Given the description of an element on the screen output the (x, y) to click on. 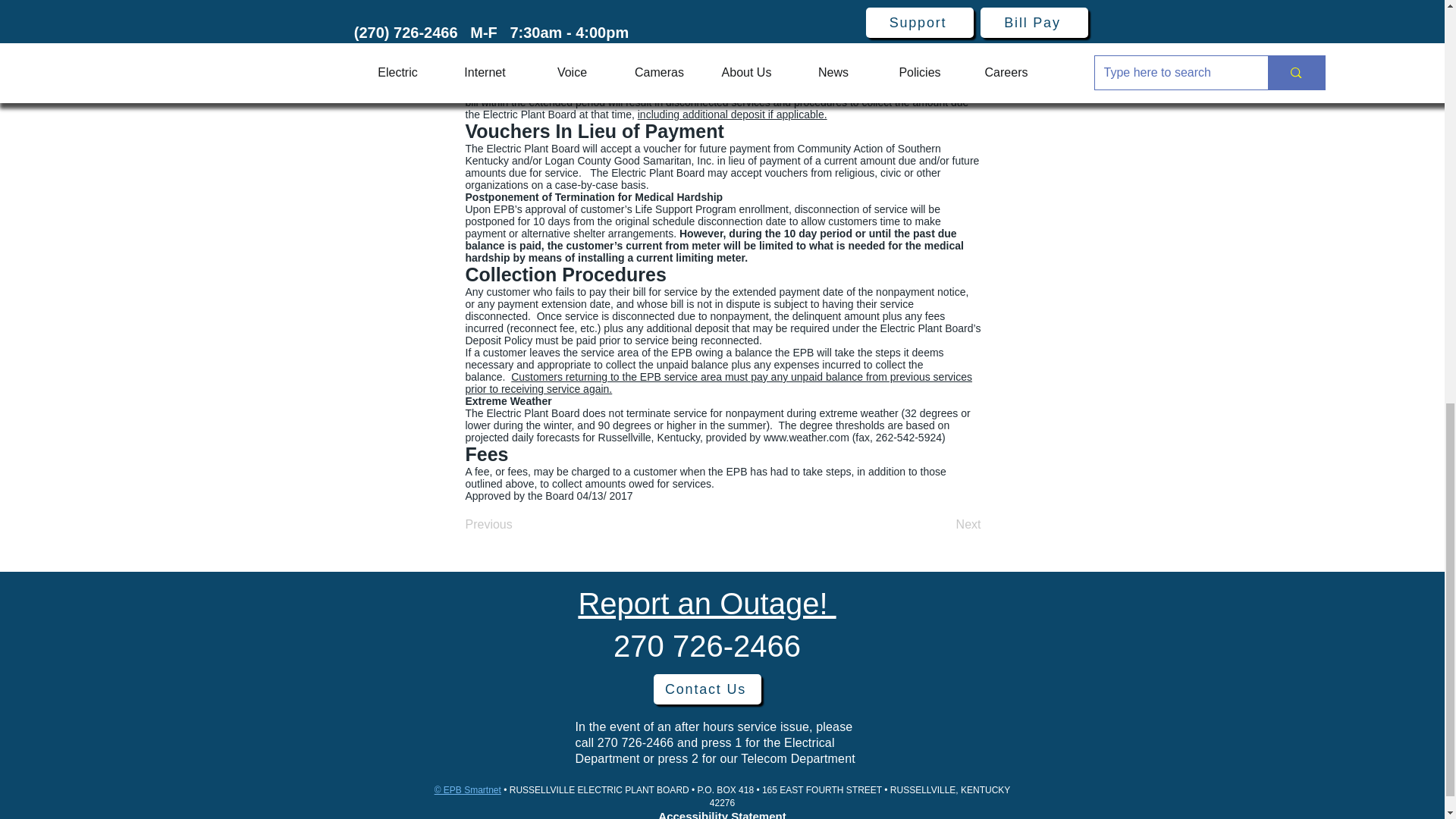
Accessibility Statement (722, 814)
www.weather.com (805, 437)
Report an Outage!  (706, 603)
Next (943, 524)
Previous (515, 524)
Contact Us (707, 689)
